Given the description of an element on the screen output the (x, y) to click on. 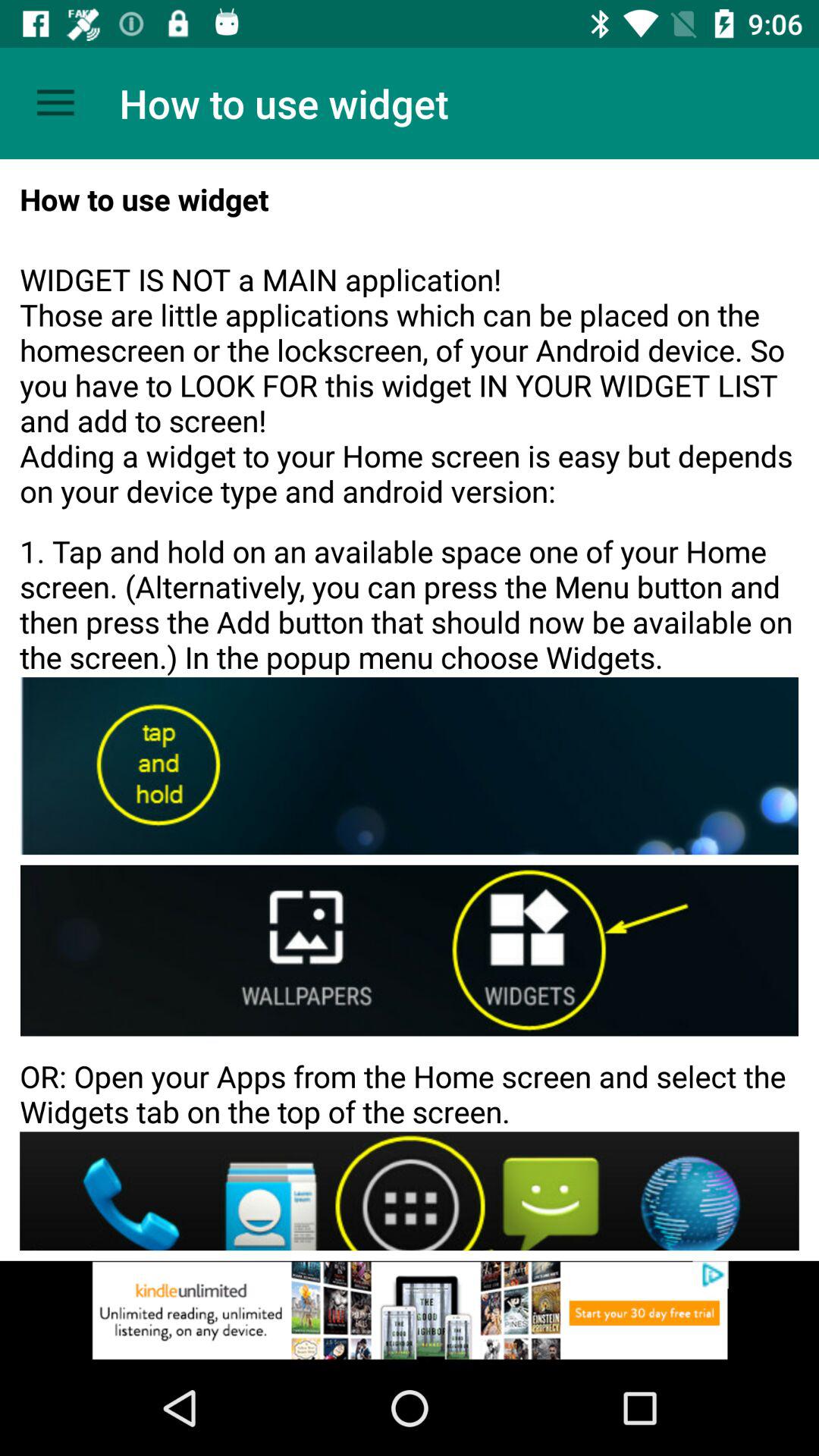
advertisement (409, 1310)
